Given the description of an element on the screen output the (x, y) to click on. 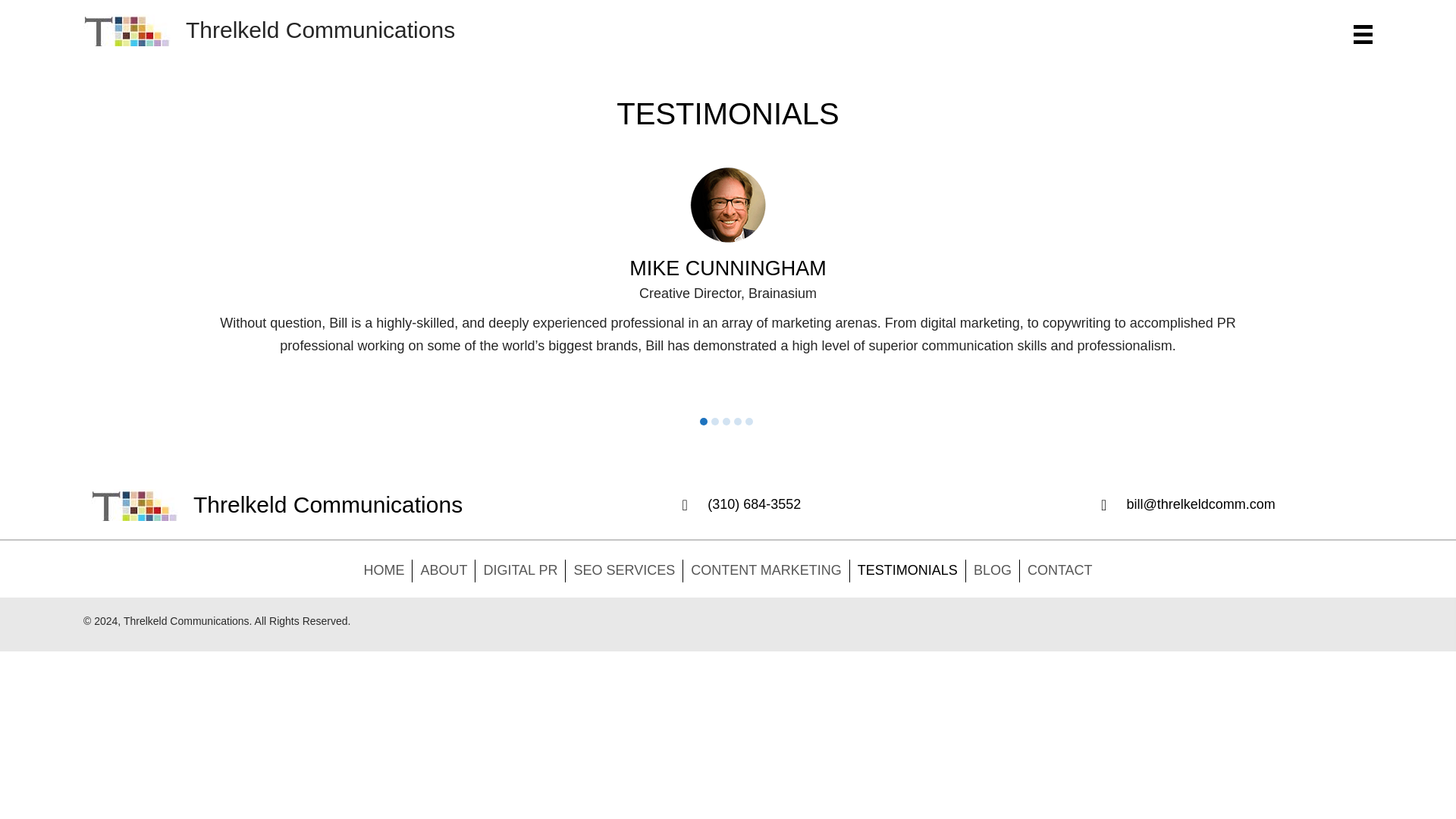
MikeCunningham-100x100-1 (727, 205)
Threlkeld Communications (126, 29)
SEO SERVICES (624, 570)
HOME (383, 570)
4 (737, 421)
5 (748, 421)
1 (702, 421)
CONTENT MARKETING (765, 570)
Threlkeld Communications (133, 504)
ABOUT (443, 570)
